Given the description of an element on the screen output the (x, y) to click on. 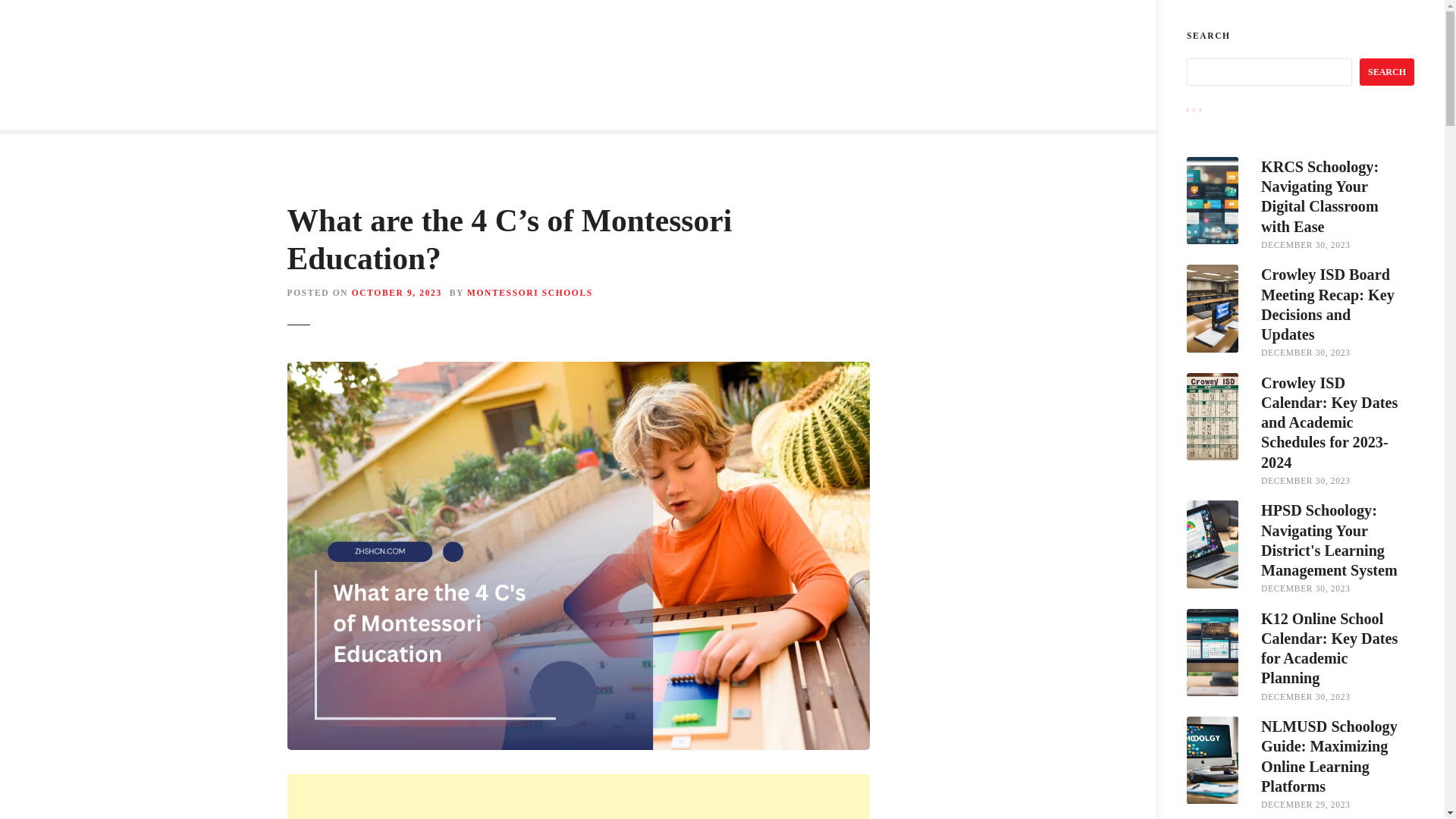
OCTOBER 9, 2023 (397, 292)
Advertisement (577, 796)
MONTESSORI SCHOOLS (529, 292)
